Given the description of an element on the screen output the (x, y) to click on. 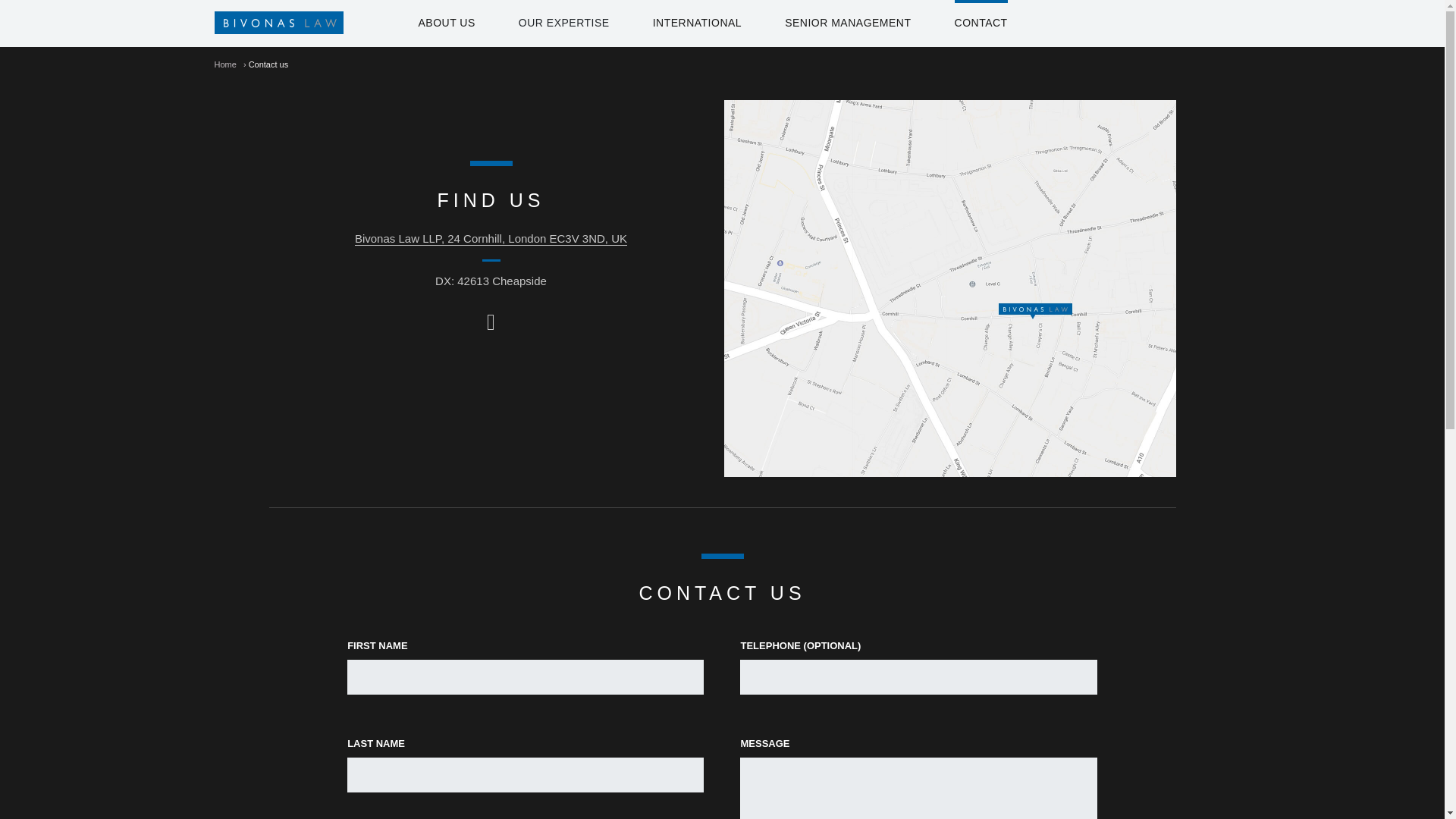
Bivonas Law LLP (259, 22)
CONTACT (981, 23)
OUR EXPERTISE (564, 23)
SENIOR MANAGEMENT (847, 23)
INTERNATIONAL (696, 23)
ABOUT US (447, 23)
